Given the description of an element on the screen output the (x, y) to click on. 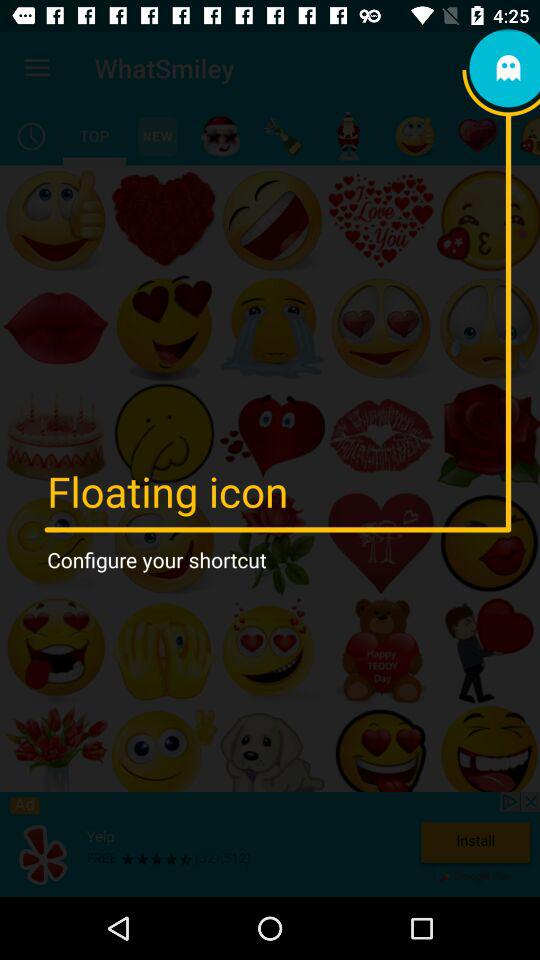
new emojis option button (157, 136)
